Given the description of an element on the screen output the (x, y) to click on. 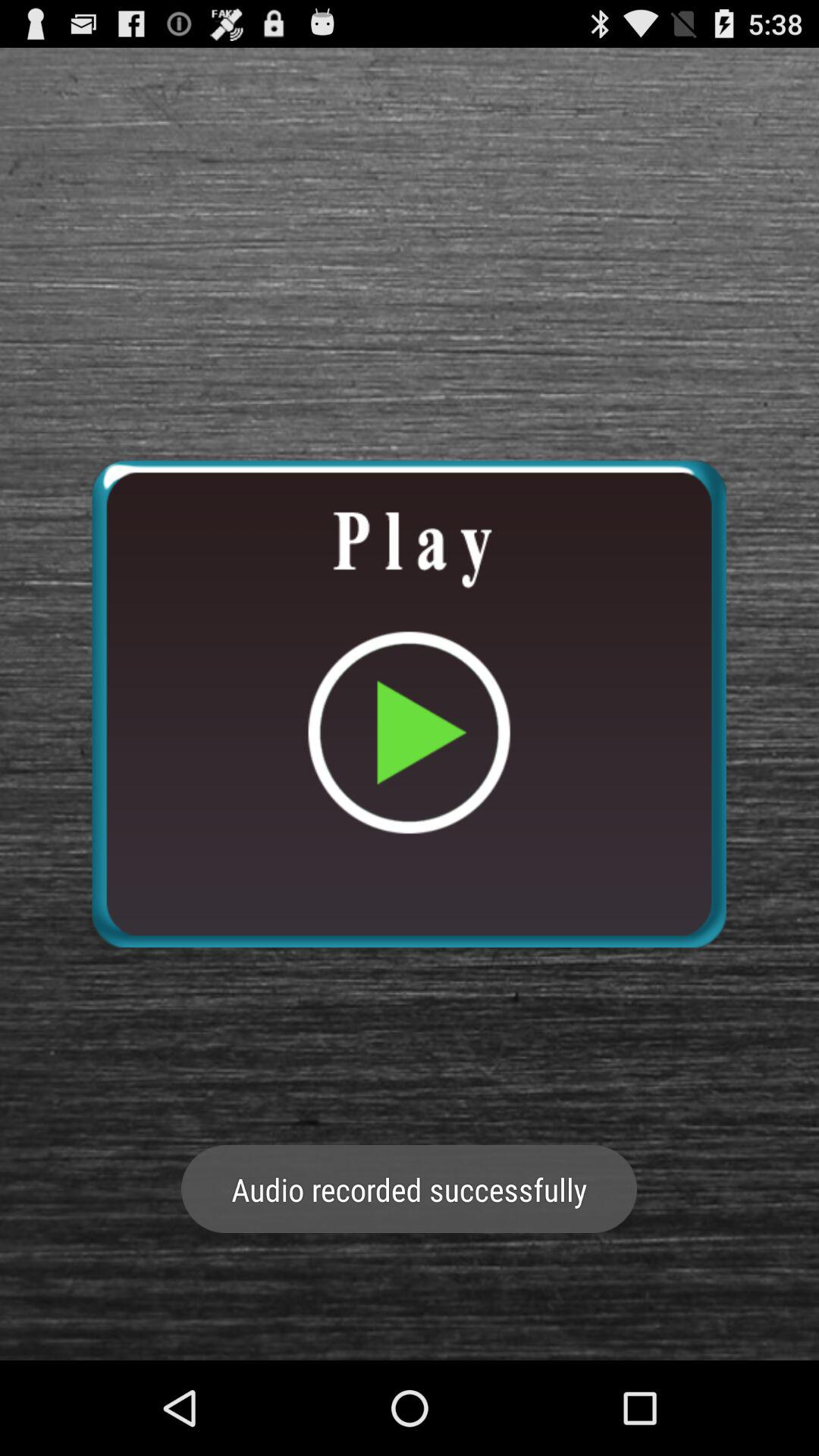
play option (409, 703)
